Given the description of an element on the screen output the (x, y) to click on. 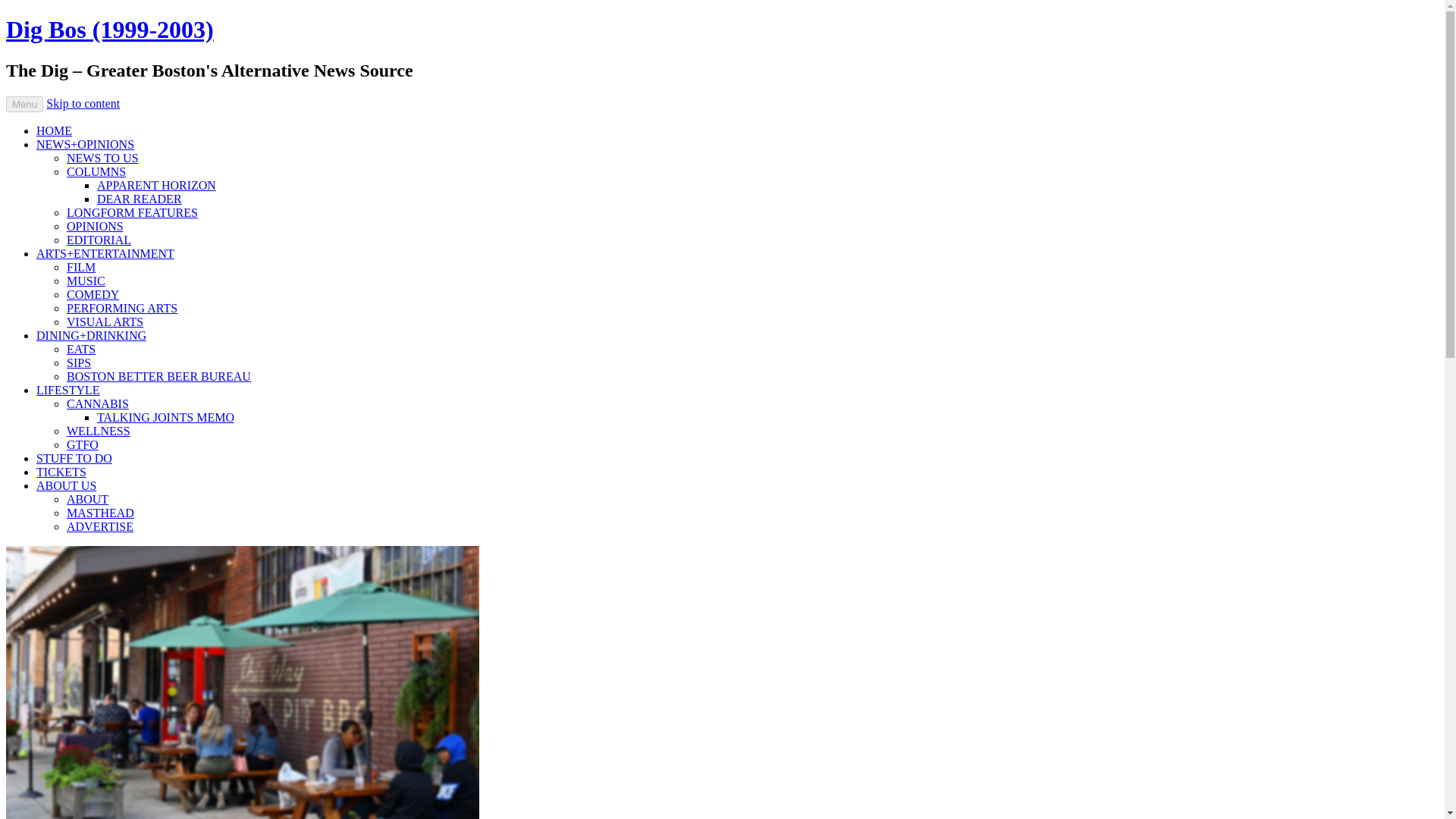
MASTHEAD (99, 512)
EDITORIAL (98, 239)
APPARENT HORIZON (156, 185)
VISUAL ARTS (104, 321)
STUFF TO DO (74, 458)
CANNABIS (97, 403)
WELLNESS (98, 431)
Menu (24, 104)
ABOUT (86, 499)
HOME (53, 130)
